Given the description of an element on the screen output the (x, y) to click on. 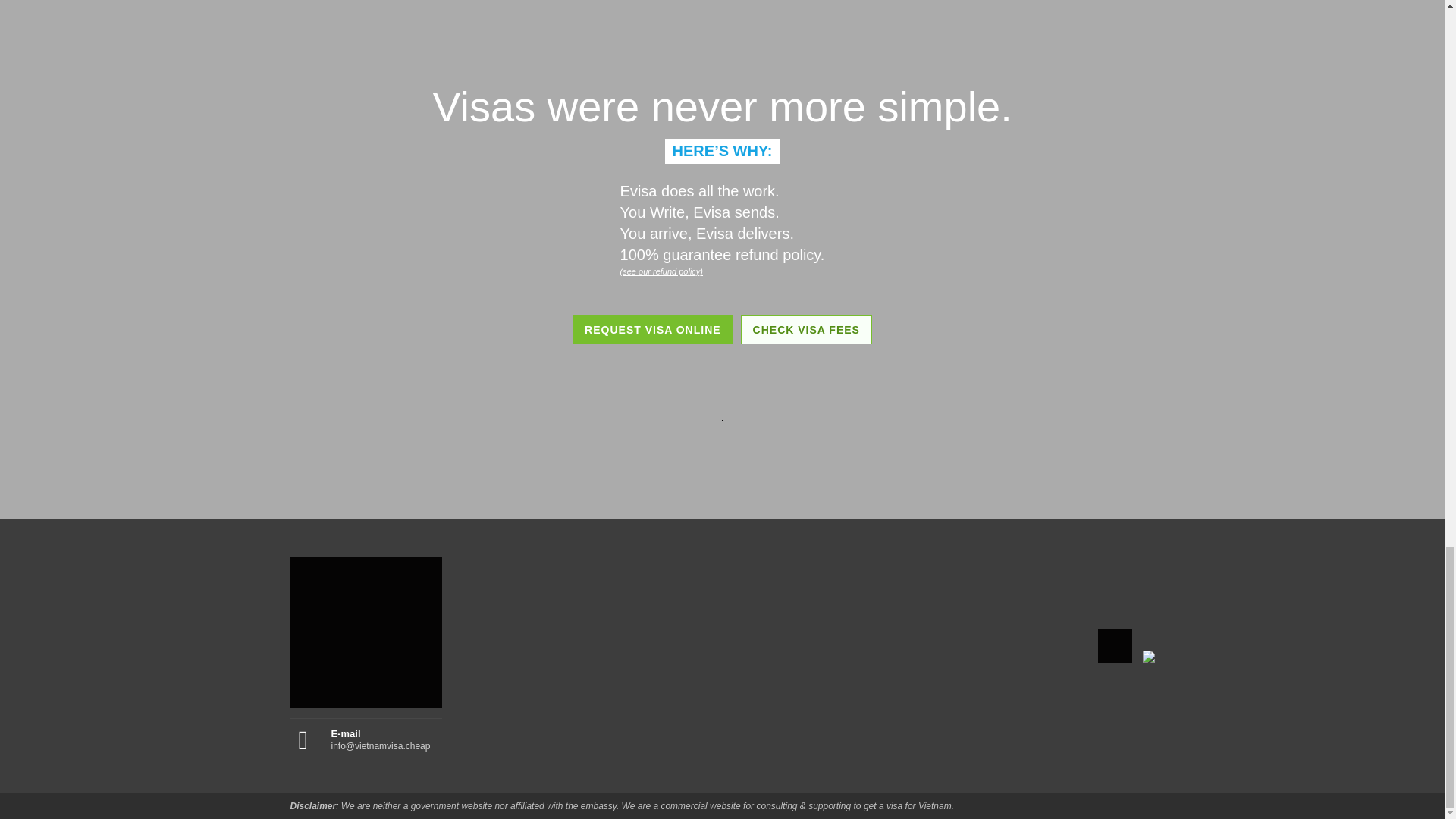
CHECK VISA FEES (806, 329)
REQUEST VISA ONLINE (652, 329)
